Given the description of an element on the screen output the (x, y) to click on. 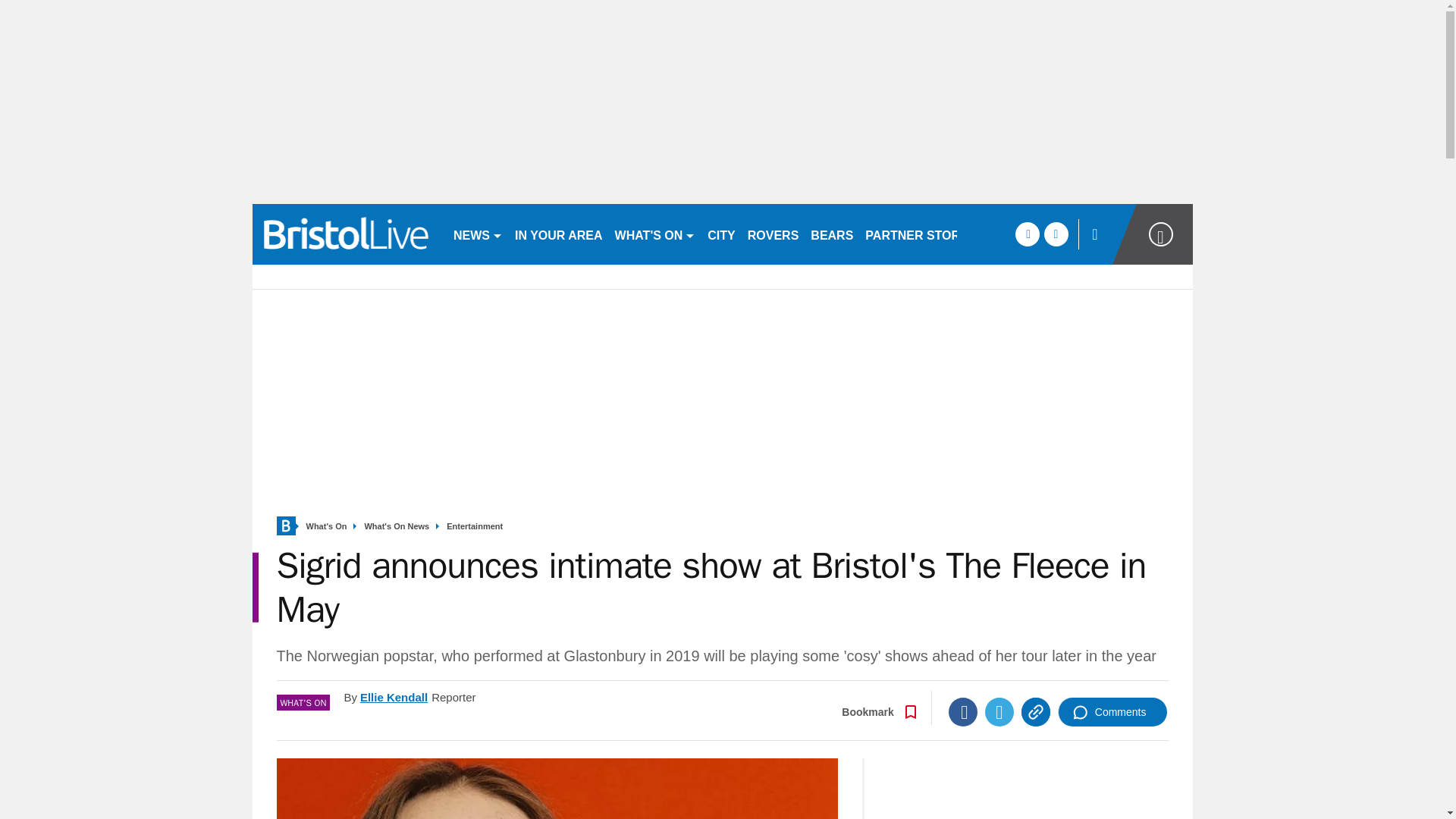
PARTNER STORIES (922, 233)
facebook (1026, 233)
Facebook (962, 711)
BEARS (832, 233)
WHAT'S ON (654, 233)
twitter (1055, 233)
ROVERS (773, 233)
Twitter (999, 711)
IN YOUR AREA (558, 233)
Comments (1112, 711)
bristolpost (345, 233)
NEWS (477, 233)
